Given the description of an element on the screen output the (x, y) to click on. 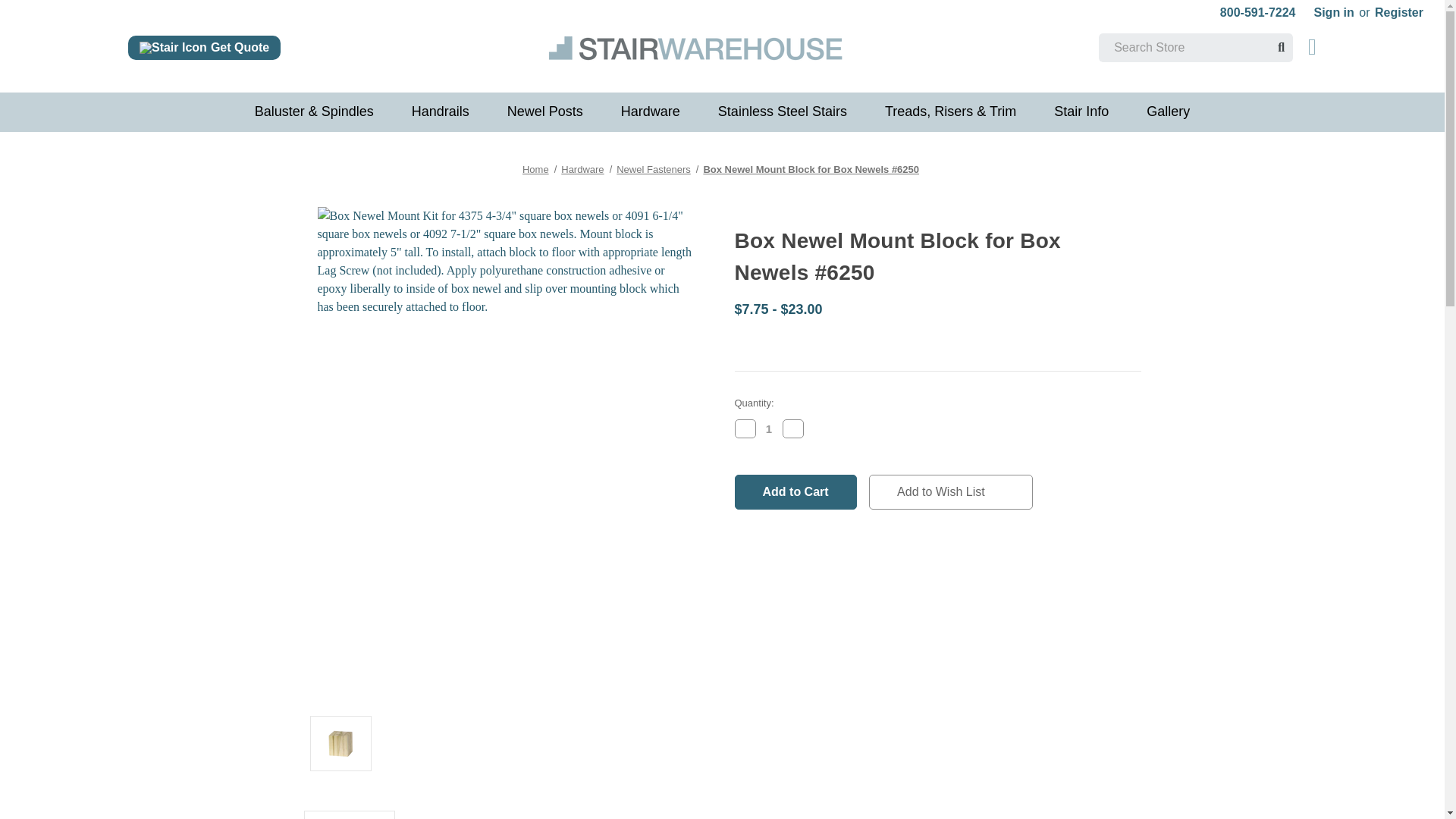
Register (1398, 12)
Hardware (650, 111)
800-591-7224 (1257, 12)
Add to Cart (794, 492)
Get Quote (204, 47)
Stair Warehouse (695, 47)
1 (768, 428)
Handrails (440, 111)
Sign in (1333, 12)
Newel Posts (544, 111)
